Given the description of an element on the screen output the (x, y) to click on. 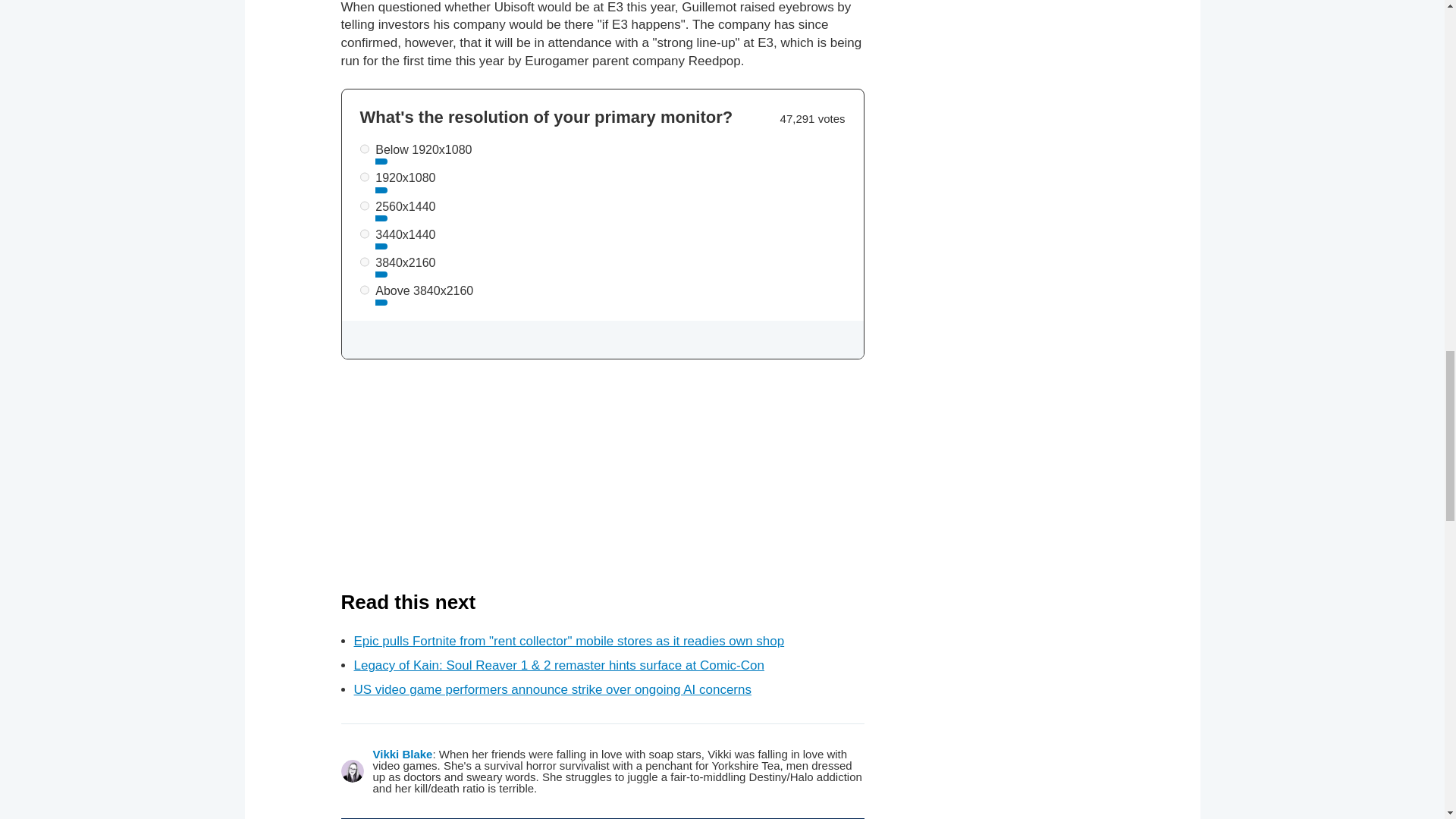
on (364, 261)
on (364, 234)
on (364, 289)
on (364, 205)
on (364, 176)
Vikki Blake (402, 753)
on (364, 148)
